Given the description of an element on the screen output the (x, y) to click on. 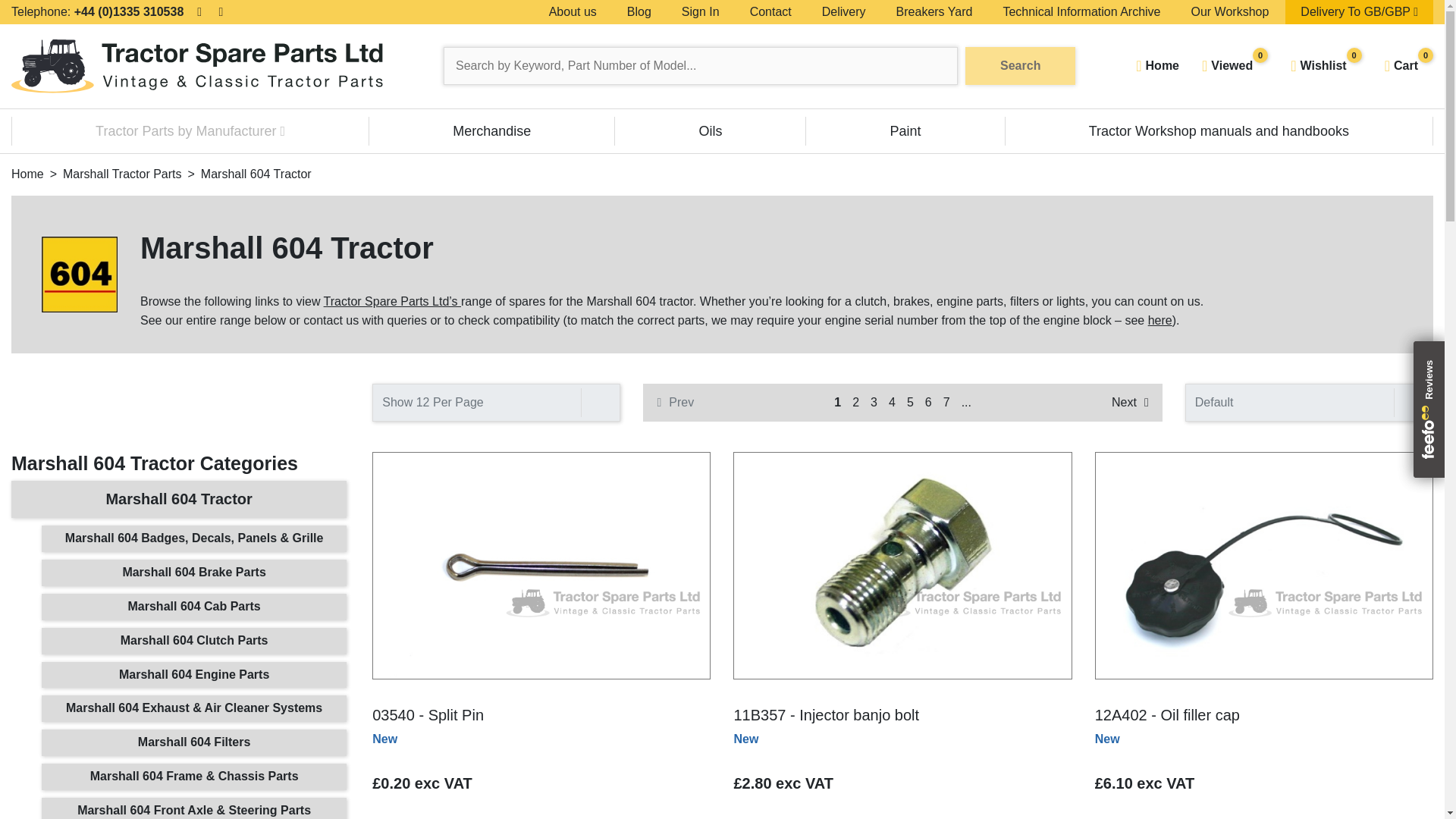
Tractor Parts by Manufacturer (1325, 66)
Contact (189, 131)
About us (770, 12)
Blog (572, 12)
Home (638, 12)
Breakers Yard (1157, 66)
Search (934, 12)
Delivery (1020, 65)
Sign In (843, 12)
Technical Information Archive (700, 12)
Our Workshop (1080, 12)
